Given the description of an element on the screen output the (x, y) to click on. 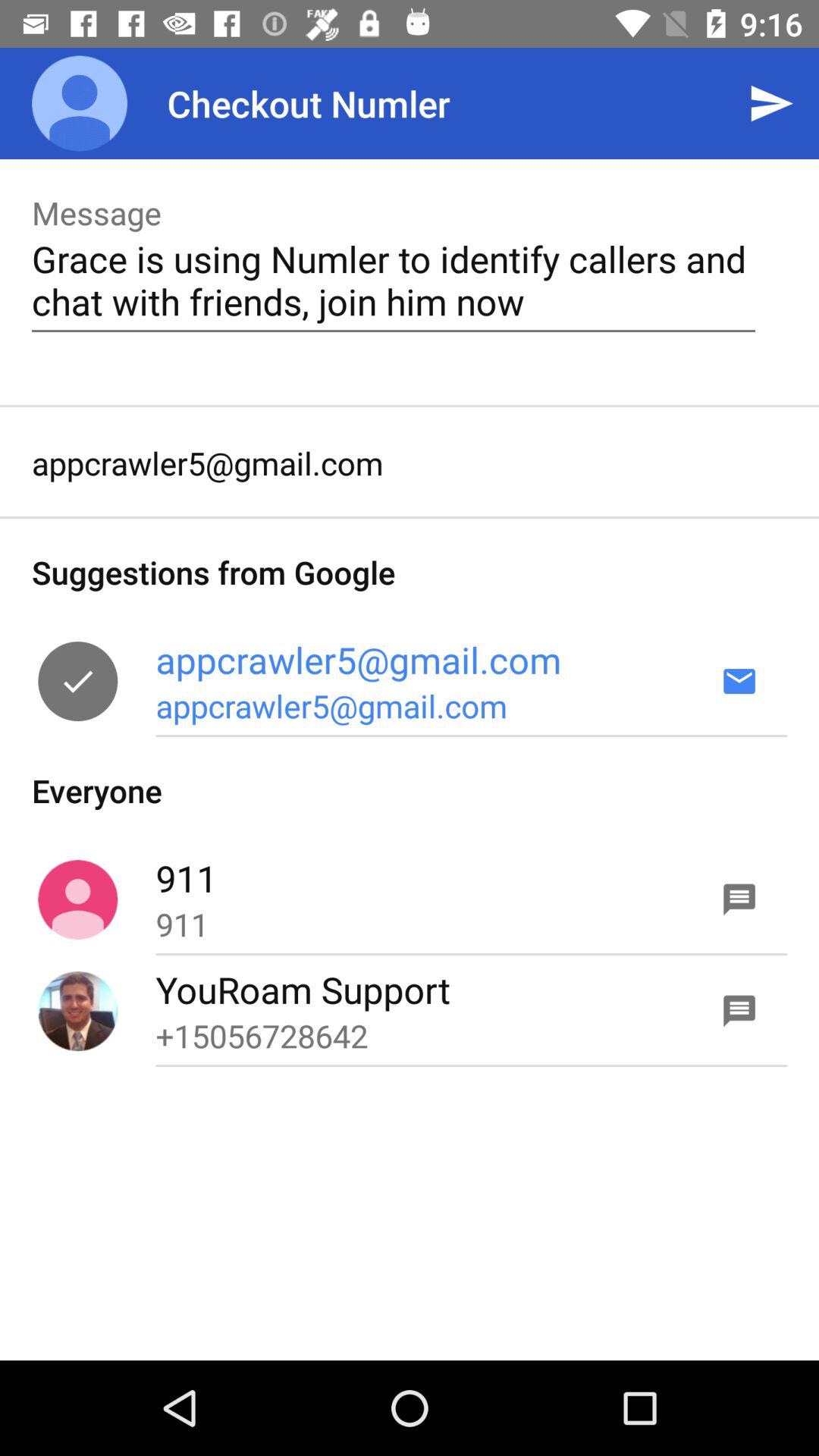
jump until the grace is using (393, 279)
